Given the description of an element on the screen output the (x, y) to click on. 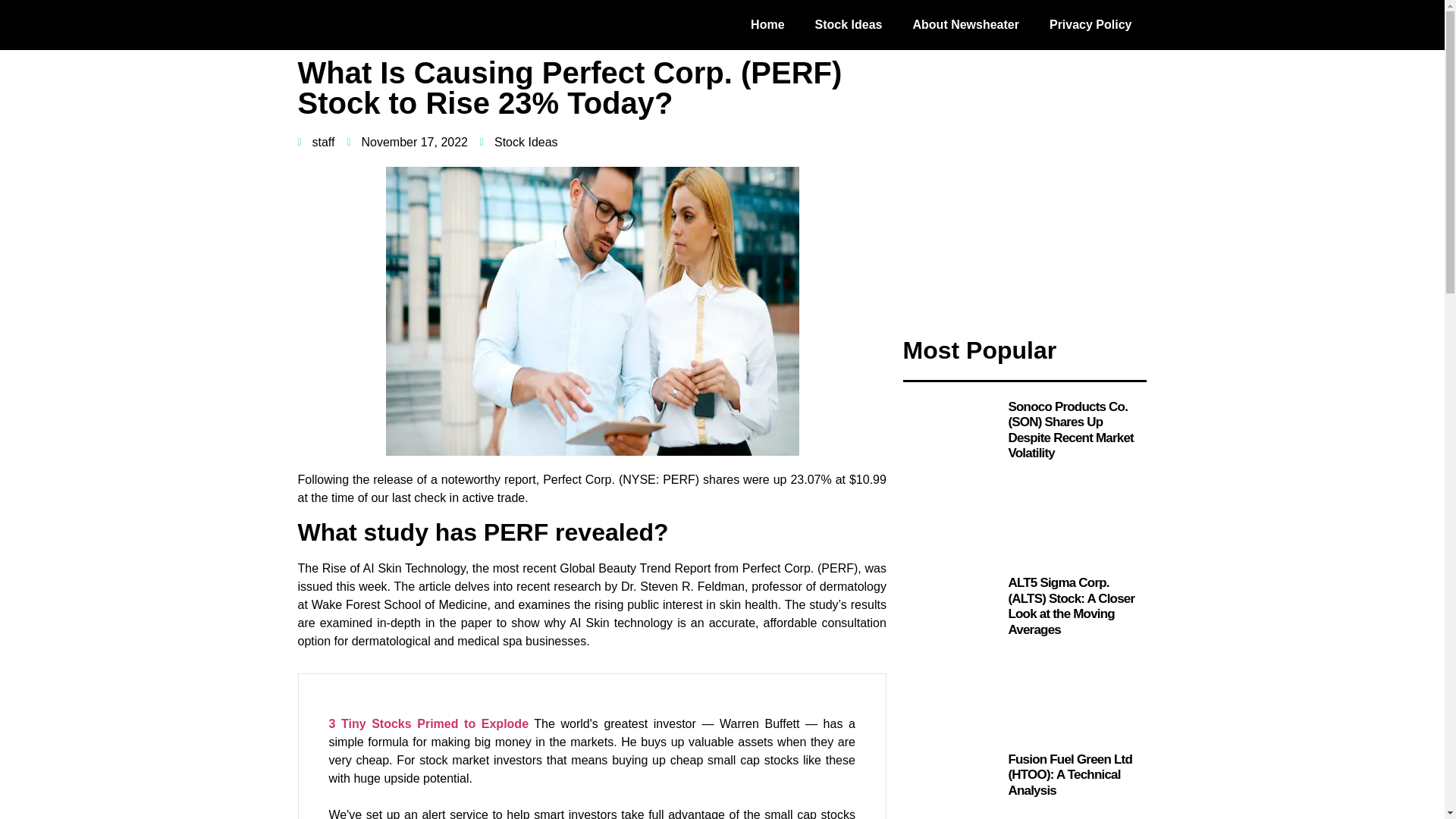
Home (767, 24)
3 Tiny Stocks Primed to Explode (429, 723)
About Newsheater (965, 24)
Privacy Policy (1090, 24)
November 17, 2022 (406, 142)
Stock Ideas (526, 141)
staff (315, 142)
Stock Ideas (848, 24)
